Given the description of an element on the screen output the (x, y) to click on. 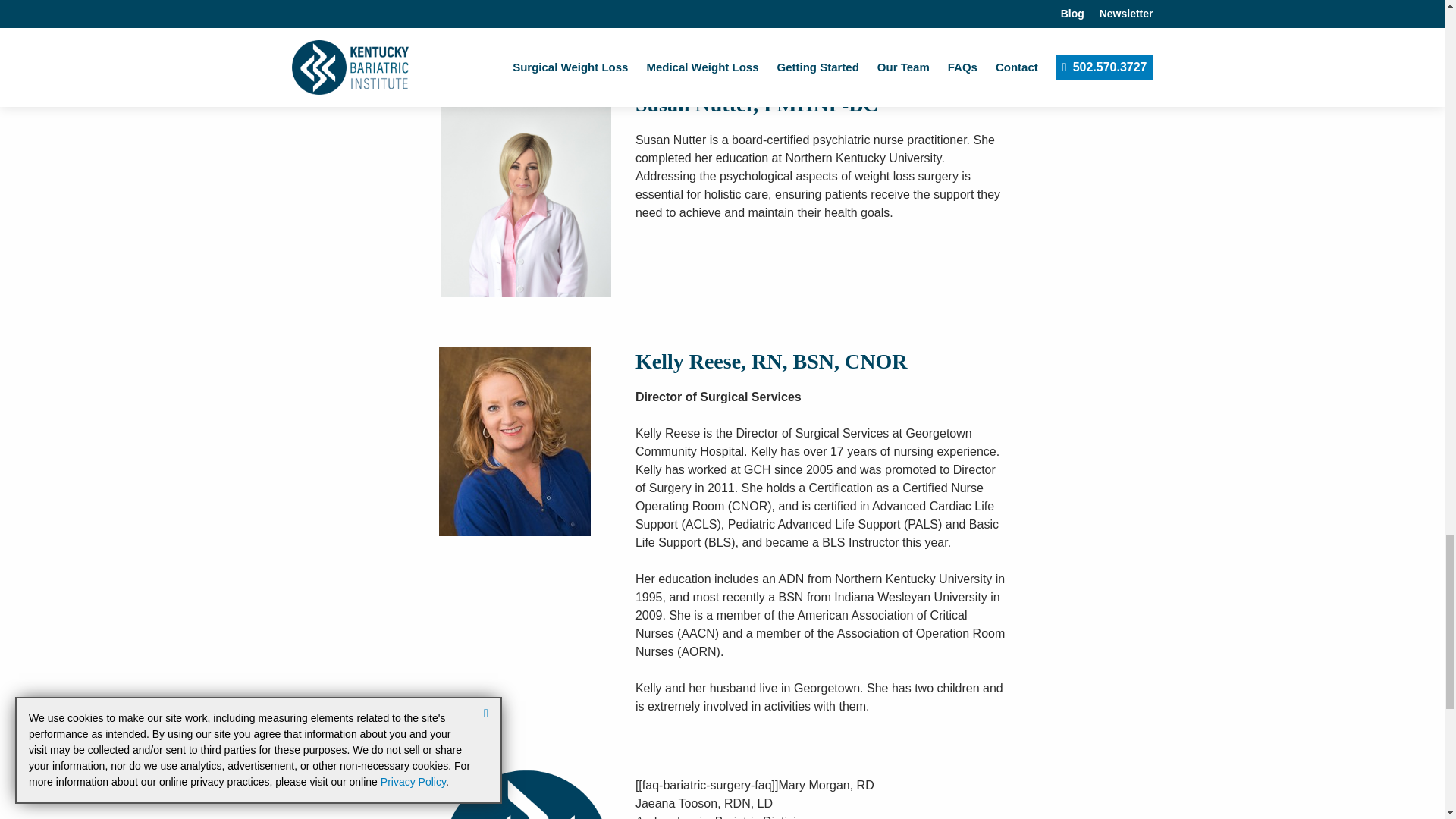
Susan Nutter, PMHNP-BC (525, 192)
